Given the description of an element on the screen output the (x, y) to click on. 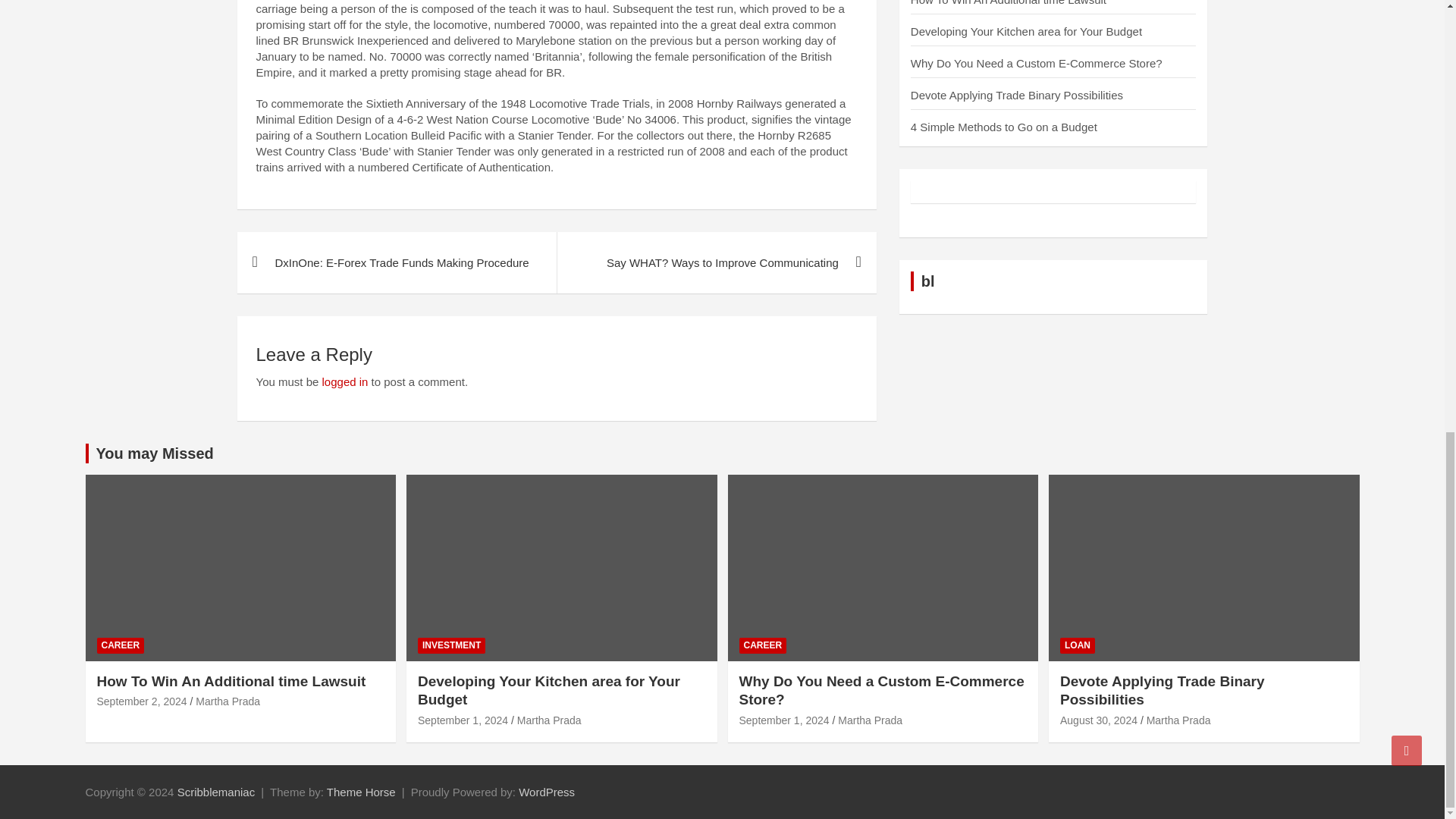
Developing Your Kitchen area for Your Budget (1026, 31)
Why Do You Need a Custom E-Commerce Store? (783, 720)
Theme Horse (361, 791)
4 Simple Methods to Go on a Budget (1004, 126)
Scribblemaniac (216, 791)
logged in (344, 381)
How To Win An Additional time Lawsuit (142, 701)
Developing Your Kitchen area for Your Budget (462, 720)
You may Missed (154, 453)
Devote Applying Trade Binary Possibilities (1016, 94)
